Given the description of an element on the screen output the (x, y) to click on. 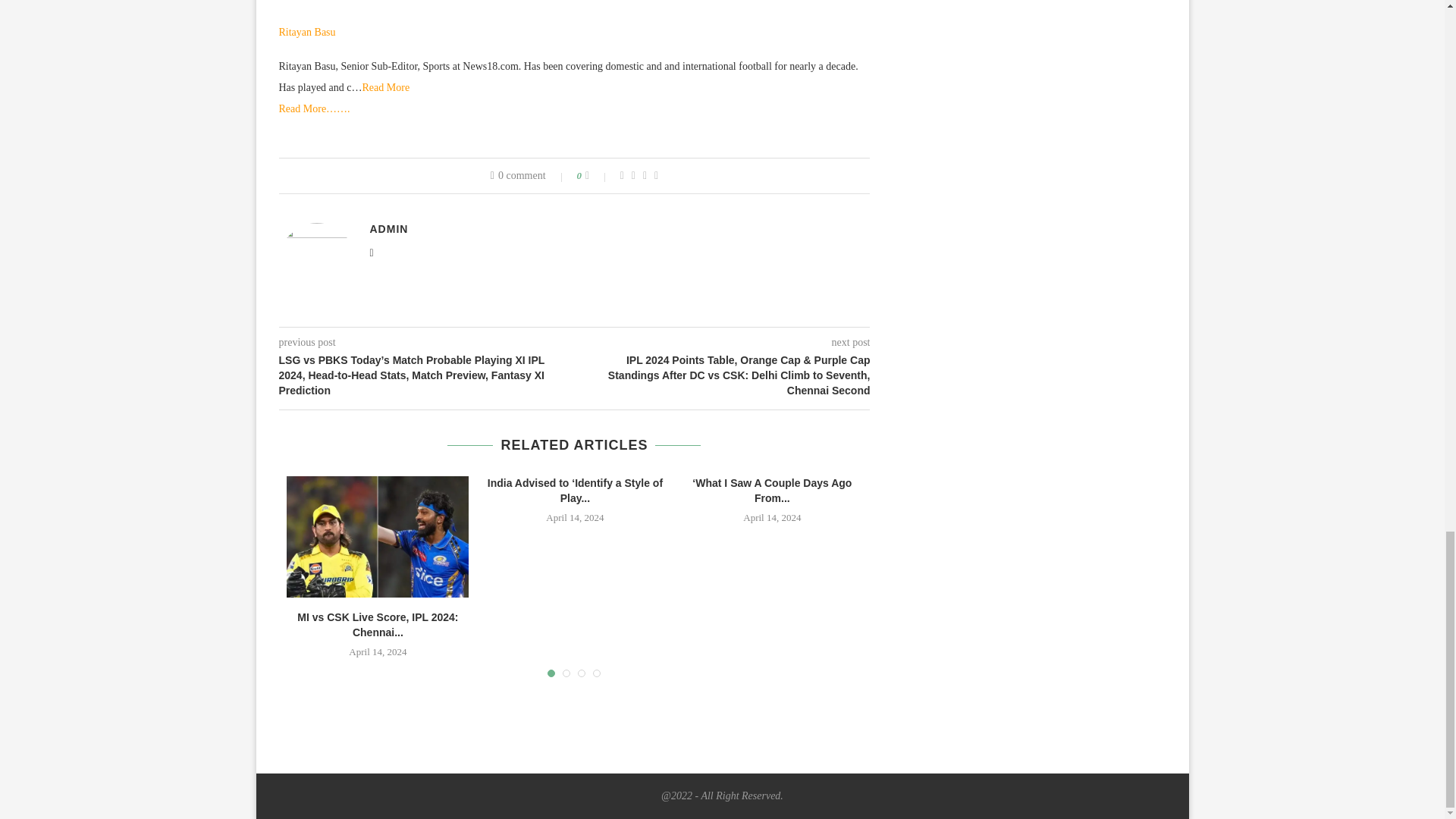
Like (597, 175)
Posts by admin (389, 228)
